Given the description of an element on the screen output the (x, y) to click on. 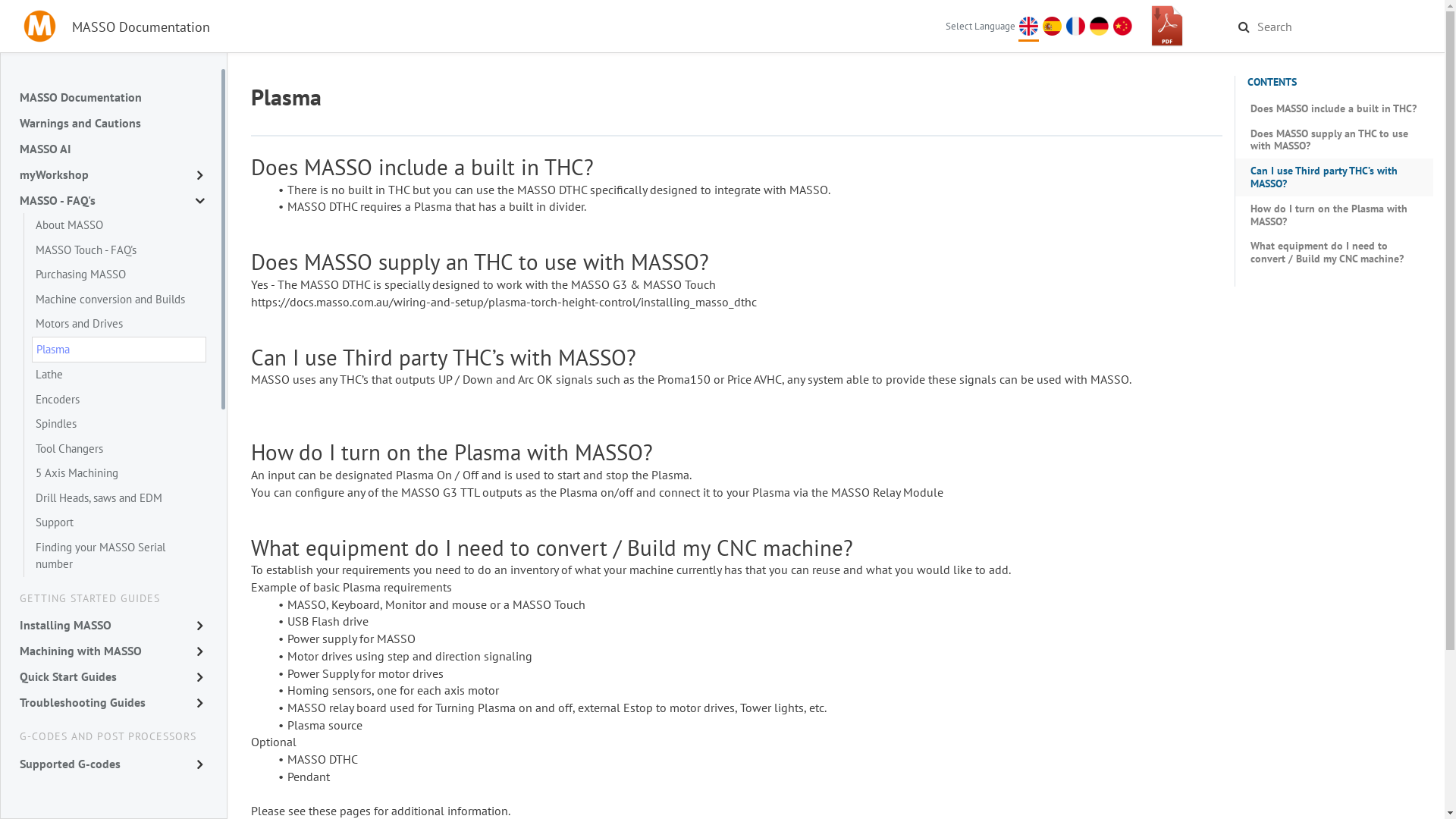
Troubleshooting Guides Element type: text (110, 702)
MASSO Documentation Element type: text (110, 96)
Installing MASSO Element type: text (110, 624)
Download MASSO documentation in PDF format Element type: hover (1167, 26)
Supported G-codes Element type: text (110, 763)
Machining with MASSO Element type: text (110, 650)
Simplified Chinese Element type: hover (1122, 25)
Plasma Element type: text (118, 349)
Warnings and Cautions Element type: text (110, 122)
Spindles Element type: text (118, 423)
MASSO Touch - FAQ's Element type: text (118, 250)
Machine conversion and Builds Element type: text (118, 298)
German Element type: hover (1097, 25)
What equipment do I need to convert / Build my CNC machine? Element type: text (1333, 252)
How do I turn on the Plasma with MASSO? Element type: text (1333, 215)
5 Axis Machining Element type: text (118, 473)
MASSO AI Element type: text (110, 148)
Does MASSO include a built in THC? Element type: text (1333, 108)
Purchasing MASSO Element type: text (118, 274)
Motors and Drives Element type: text (118, 323)
French Element type: hover (1075, 25)
Quick Start Guides Element type: text (110, 676)
Drill Heads, saws and EDM Element type: text (118, 497)
Tool Changers Element type: text (118, 448)
Encoders Element type: text (118, 398)
English Element type: hover (1028, 25)
Spanish Element type: hover (1050, 25)
About MASSO Element type: text (118, 225)
Support Element type: text (118, 522)
Does MASSO supply an THC to use with MASSO? Element type: text (1333, 140)
myWorkshop Element type: text (110, 174)
Lathe Element type: text (118, 374)
Finding your MASSO Serial number Element type: text (118, 556)
MASSO - FAQ's Element type: text (110, 200)
Supported M-codes Element type: text (110, 789)
